Given the description of an element on the screen output the (x, y) to click on. 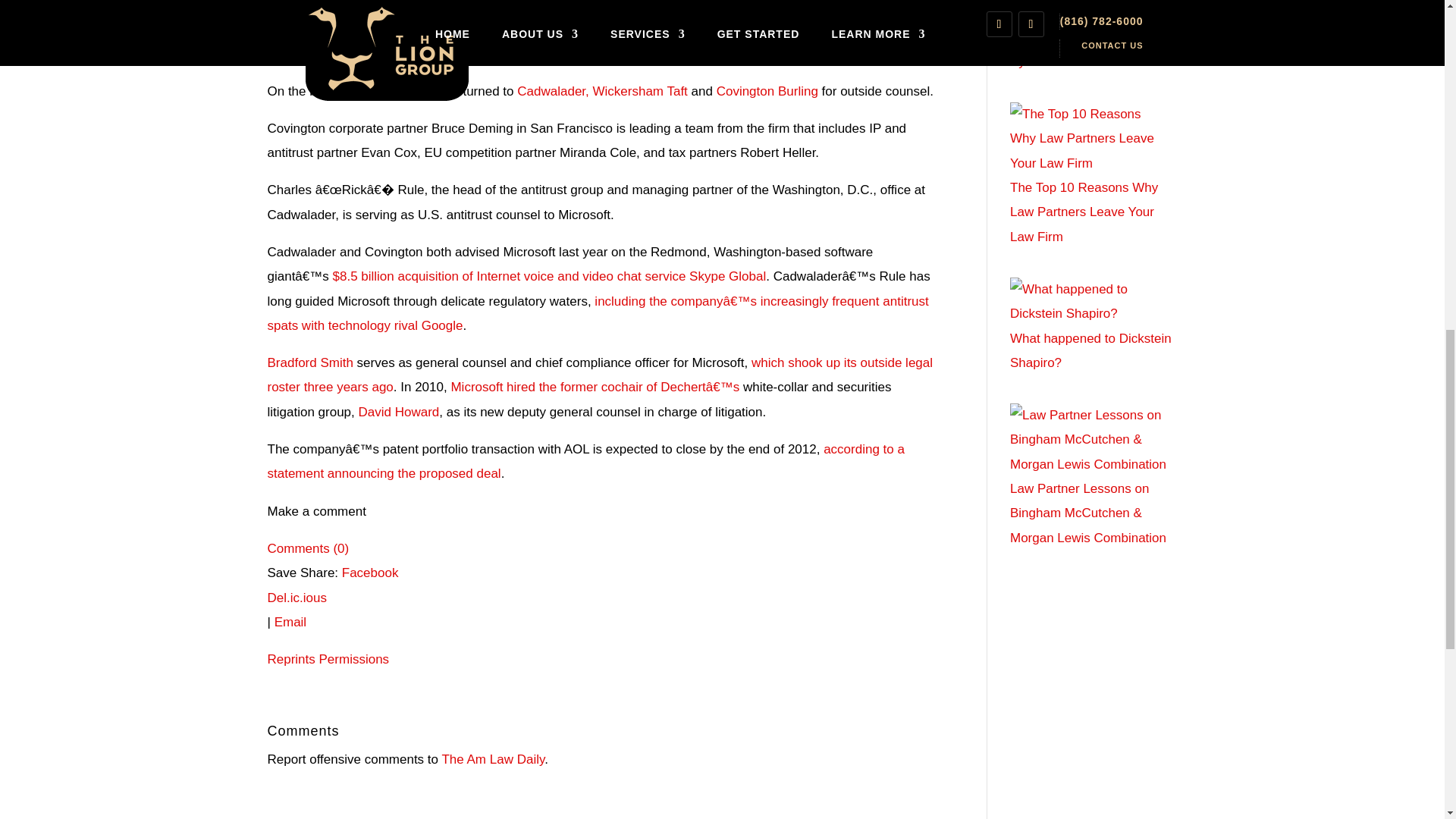
Cadwalader, Wickersham Taft (601, 91)
which shook up its outside legal roster three years ago (599, 374)
Julie Jacobs (639, 52)
Covington Burling (767, 91)
Bradford Smith (309, 362)
